Given the description of an element on the screen output the (x, y) to click on. 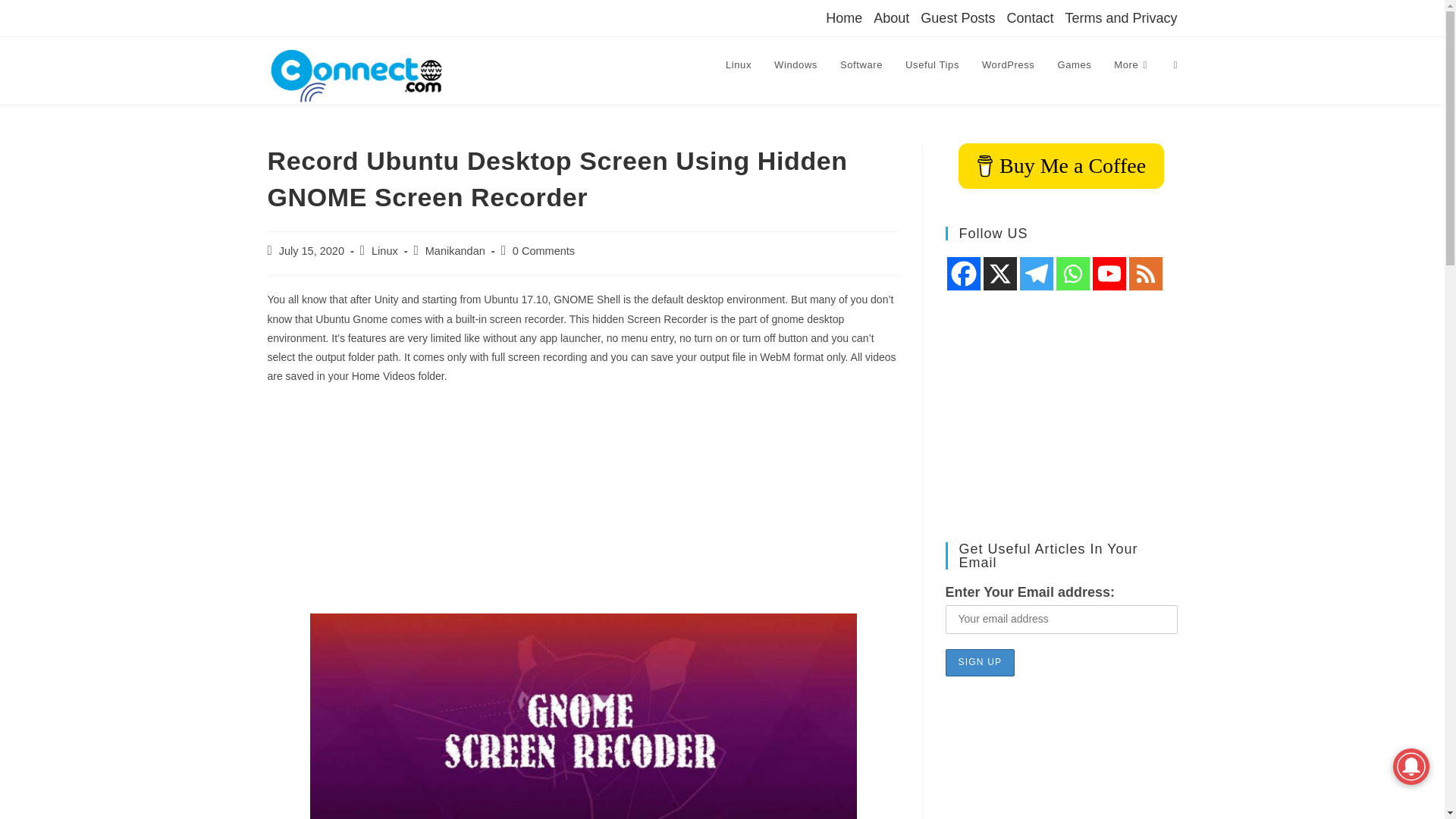
Telegram (1035, 273)
Facebook (962, 273)
X (999, 273)
Home (843, 17)
WordPress (1008, 64)
Advertisement (582, 507)
Windows (795, 64)
About (890, 17)
Useful Tips (932, 64)
Posts by Manikandan (454, 250)
RSS feed (1144, 273)
Contact (1029, 17)
Games (1073, 64)
Guest Posts (957, 17)
Sign up (979, 662)
